Given the description of an element on the screen output the (x, y) to click on. 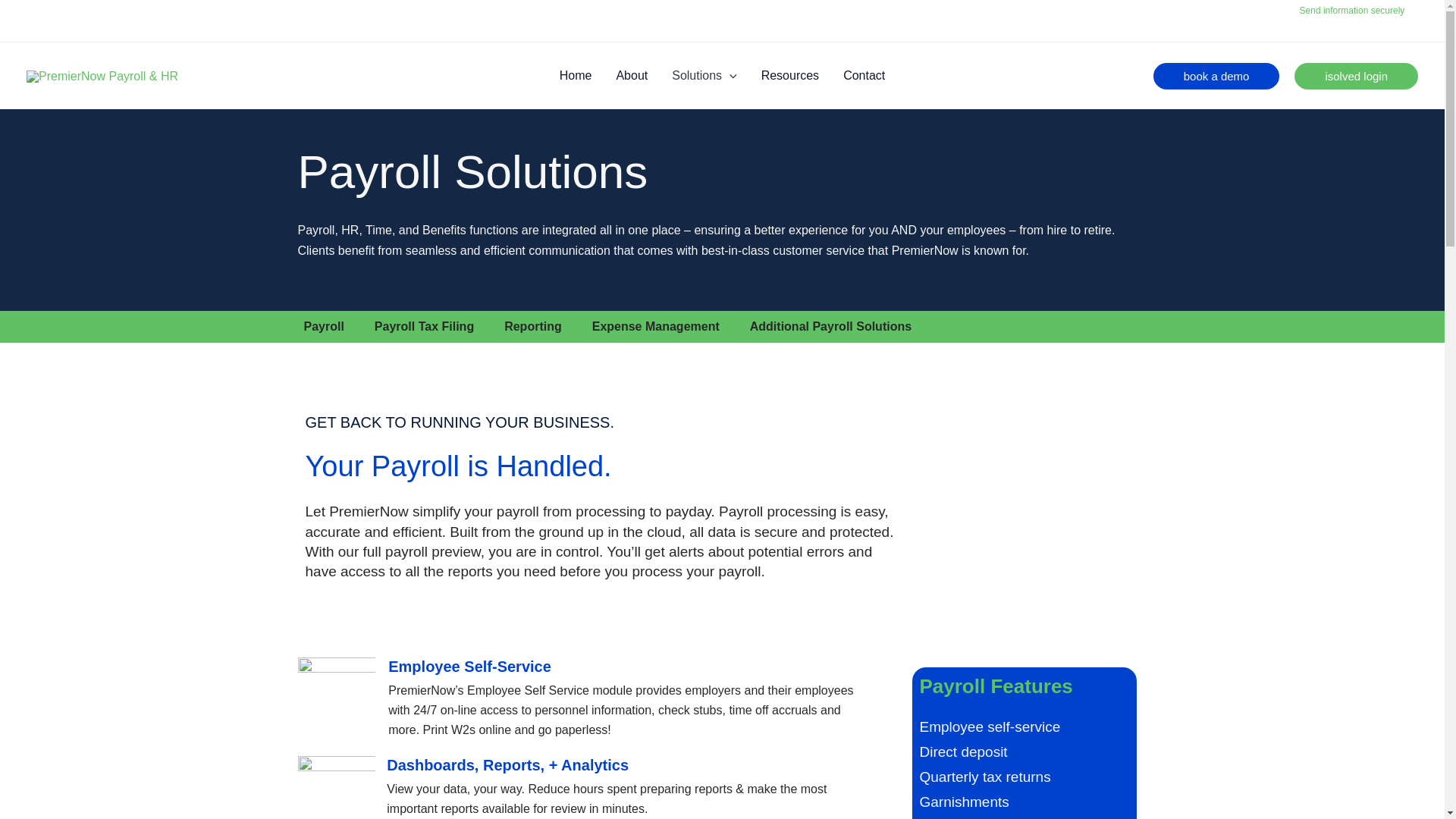
isolved login (1356, 76)
book a demo (1216, 76)
Send information se (1340, 9)
Contact (863, 75)
curely  (1399, 9)
Resources (790, 75)
Solutions (703, 75)
